Given the description of an element on the screen output the (x, y) to click on. 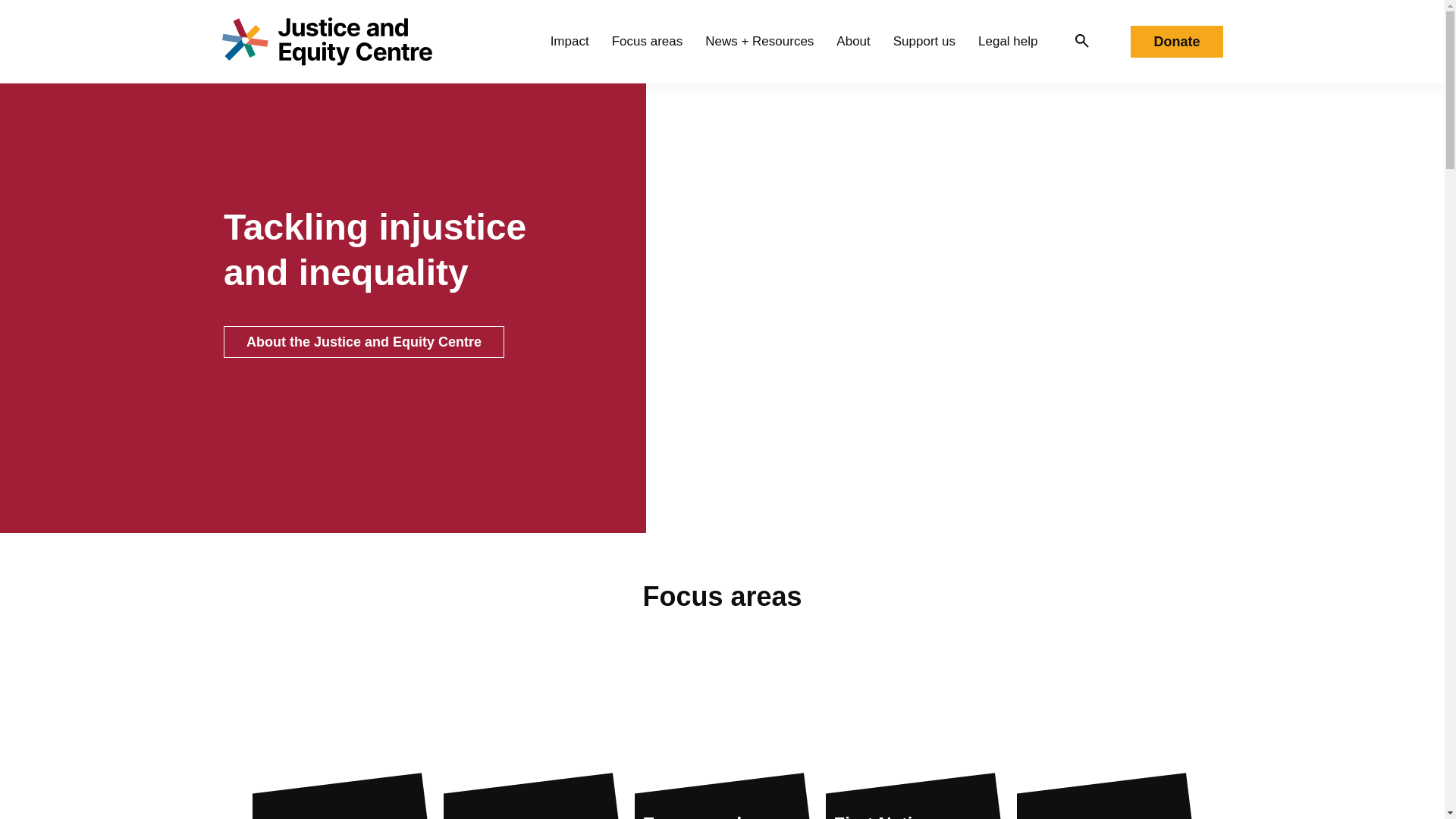
Focus areas (646, 41)
Home 6 (913, 732)
Home 7 (1104, 732)
Home 5 (721, 732)
About (852, 41)
Impact (569, 41)
Home 4 (530, 732)
Home 3 (339, 732)
